Given the description of an element on the screen output the (x, y) to click on. 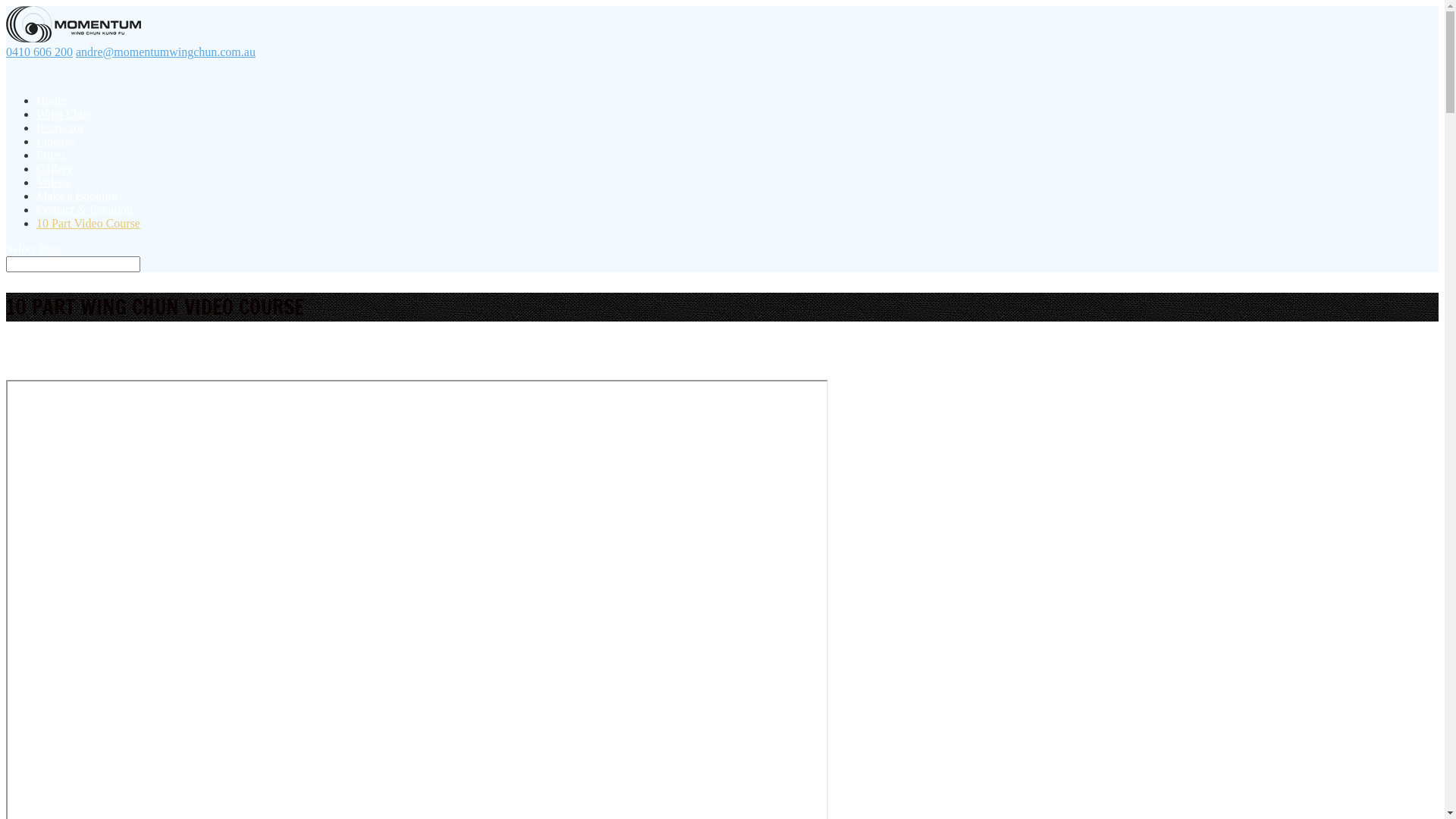
Make a Booking Element type: text (76, 202)
10 Part Video Course Element type: text (88, 229)
0410 606 200 Element type: text (39, 51)
Gallery Element type: text (54, 175)
Home Element type: text (50, 107)
Contact & Location Element type: text (84, 216)
Videos Element type: text (52, 188)
Lineage Element type: text (55, 147)
Prices Element type: text (50, 161)
Wing Chun Element type: text (64, 120)
andre@momentumwingchun.com.au Element type: text (165, 51)
Search for: Element type: hover (73, 264)
Instructor Element type: text (59, 134)
